Given the description of an element on the screen output the (x, y) to click on. 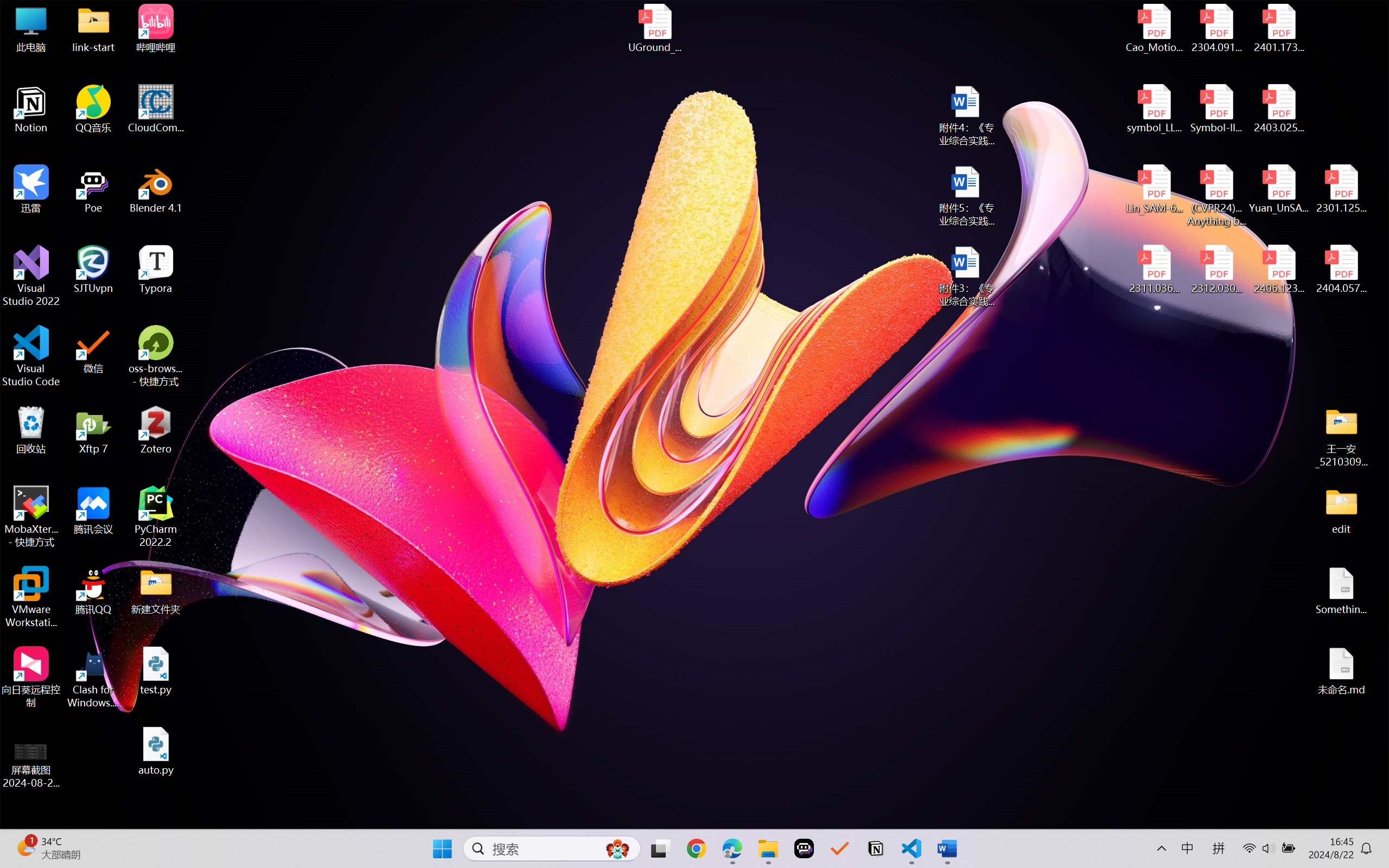
2406.12373v2.pdf (1278, 269)
2312.03032v2.pdf (1216, 269)
Xftp 7 (93, 430)
SJTUvpn (93, 269)
Something.md (1340, 591)
auto.py (156, 751)
